Given the description of an element on the screen output the (x, y) to click on. 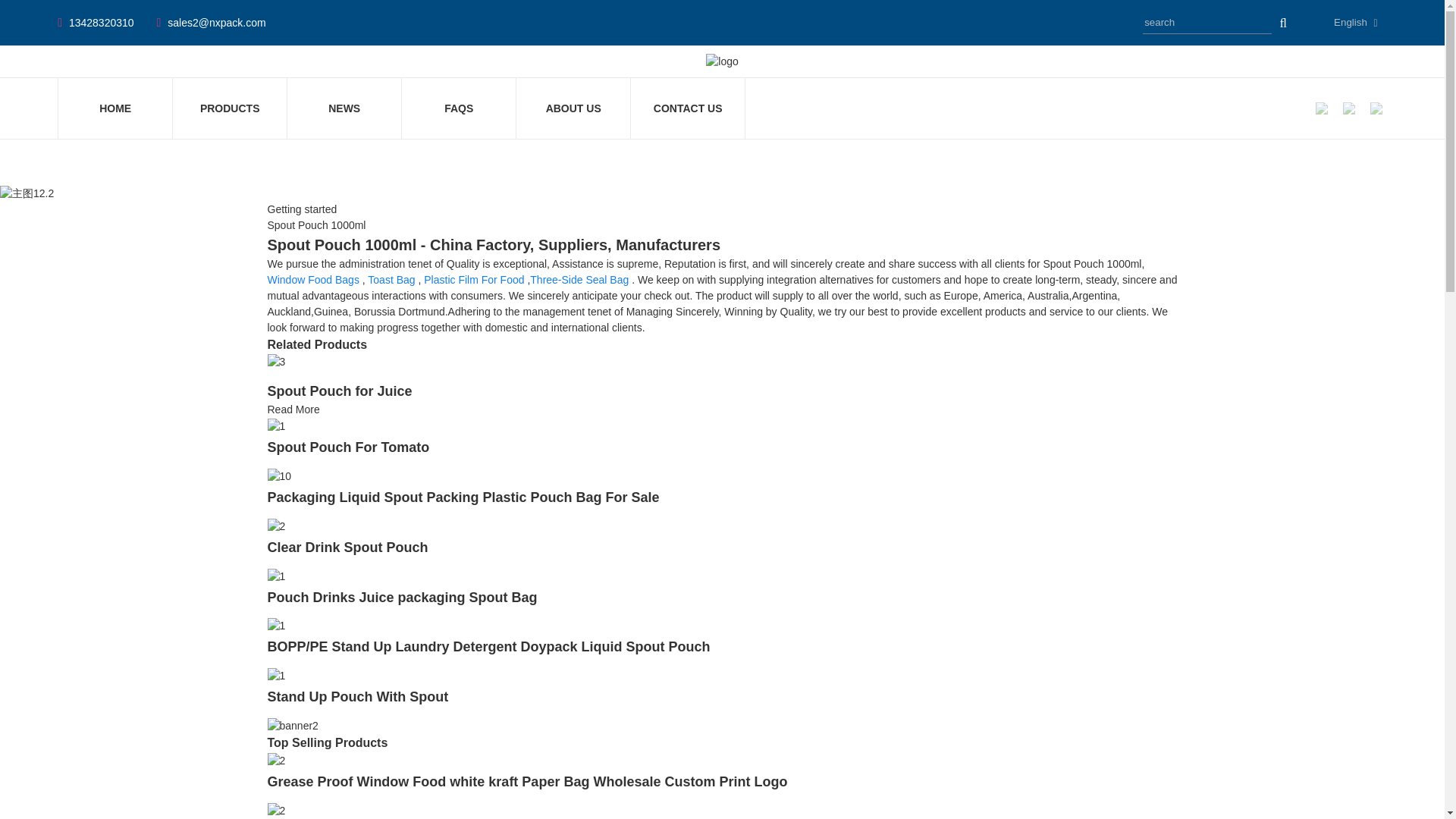
PRODUCTS (228, 107)
Three-Side Seal Bag (578, 279)
Spout Pouch for Juice (339, 391)
Packaging Liquid Spout Packing Plastic Pouch Bag For Sale (278, 475)
Spout Pouch for Juice (275, 361)
Toast Bag (391, 279)
Getting started (301, 209)
Toast Bag (391, 279)
Clear Drink Spout Pouch (347, 547)
Spout Pouch For Tomato (347, 447)
